Given the description of an element on the screen output the (x, y) to click on. 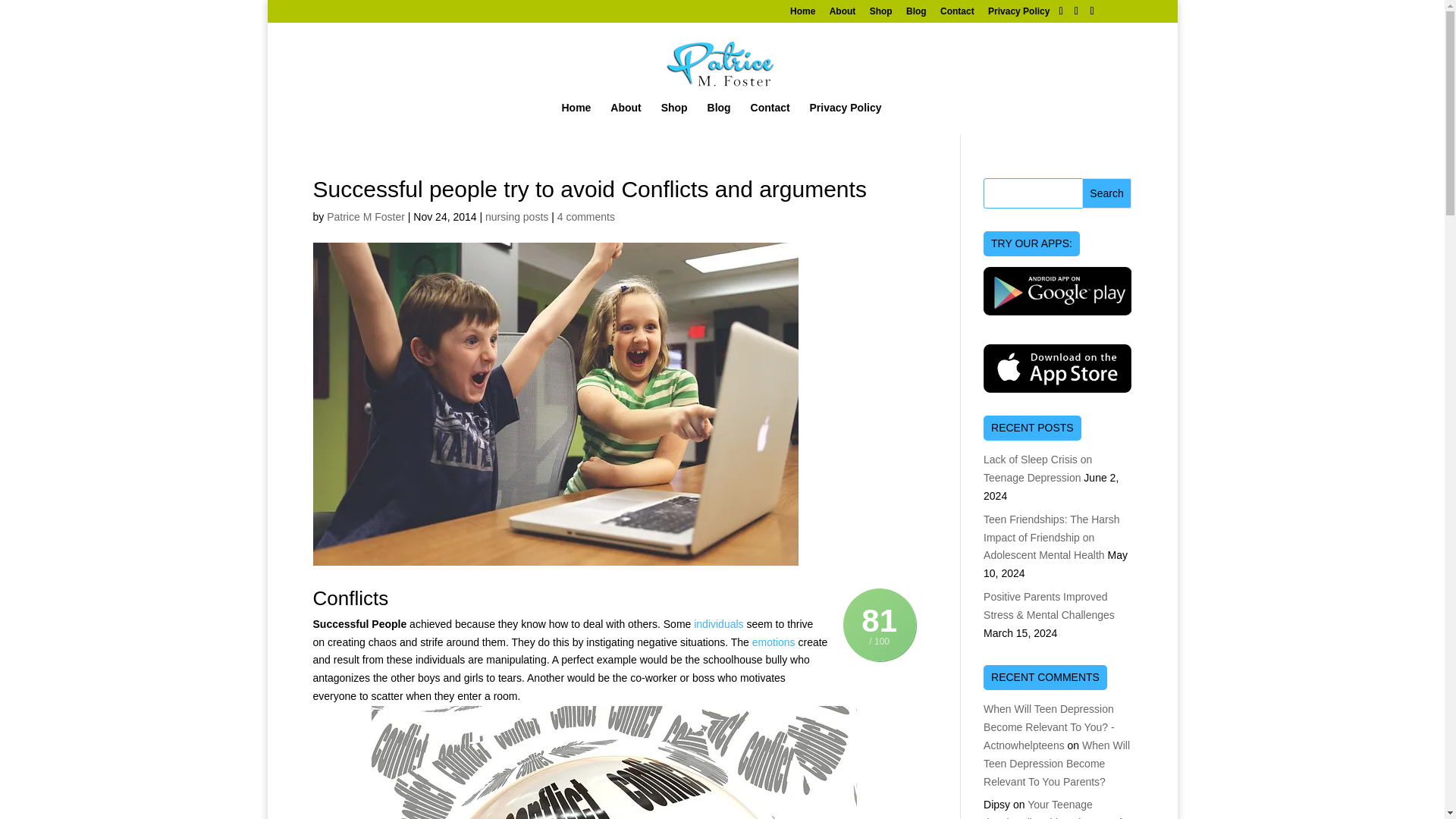
Privacy Policy (845, 114)
About (842, 14)
Blog (915, 14)
Shop (674, 114)
Contact (770, 114)
Shop (880, 14)
Individual (718, 623)
Emotion (773, 642)
individuals (718, 623)
Successful people try to avoid Conflicts and arguments (614, 762)
Posts by Patrice M Foster (365, 216)
Blog (718, 114)
nursing posts (516, 216)
Home (802, 14)
Privacy Policy (1018, 14)
